Given the description of an element on the screen output the (x, y) to click on. 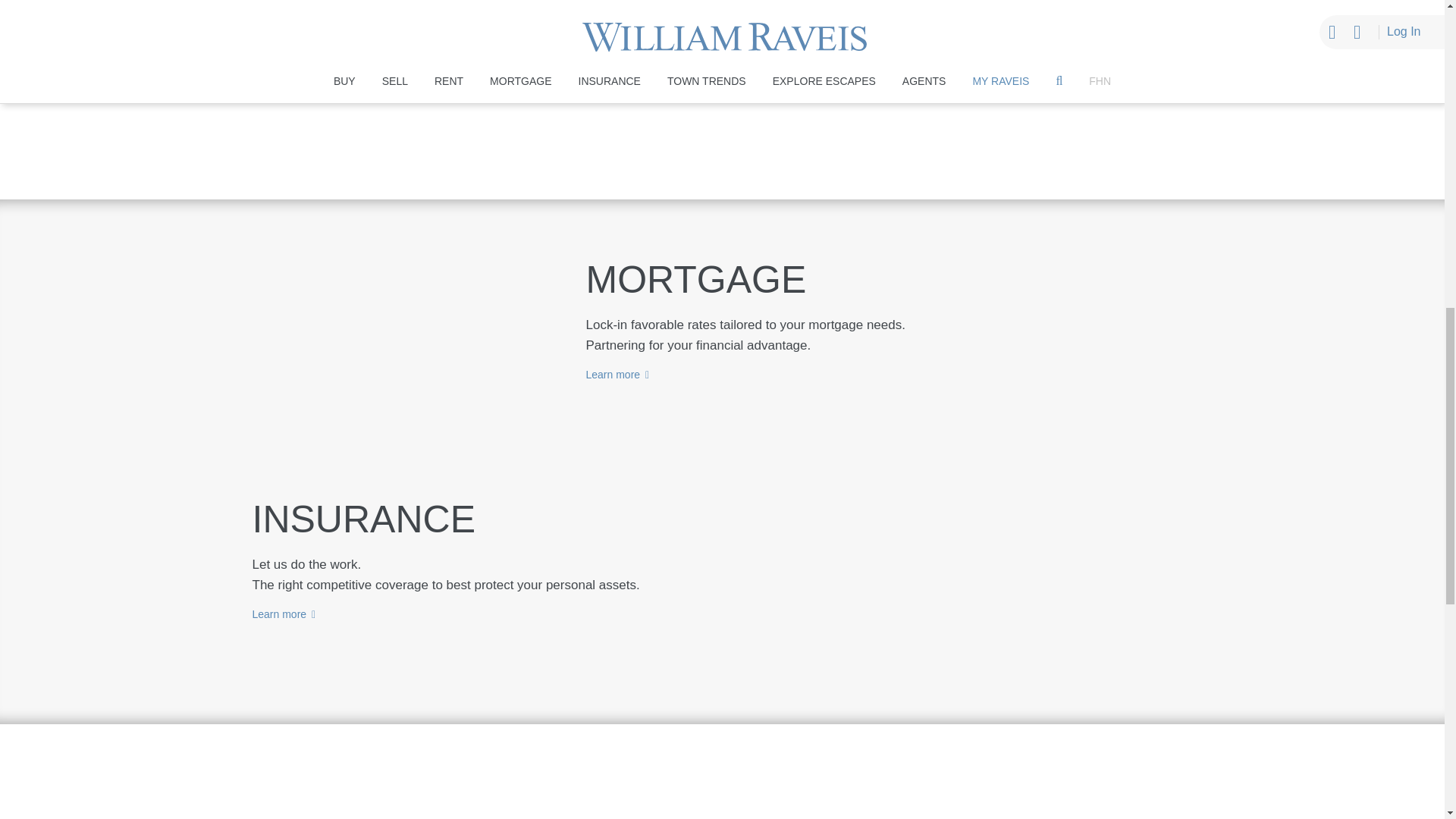
FEATURED VIDEOS (898, 798)
